Given the description of an element on the screen output the (x, y) to click on. 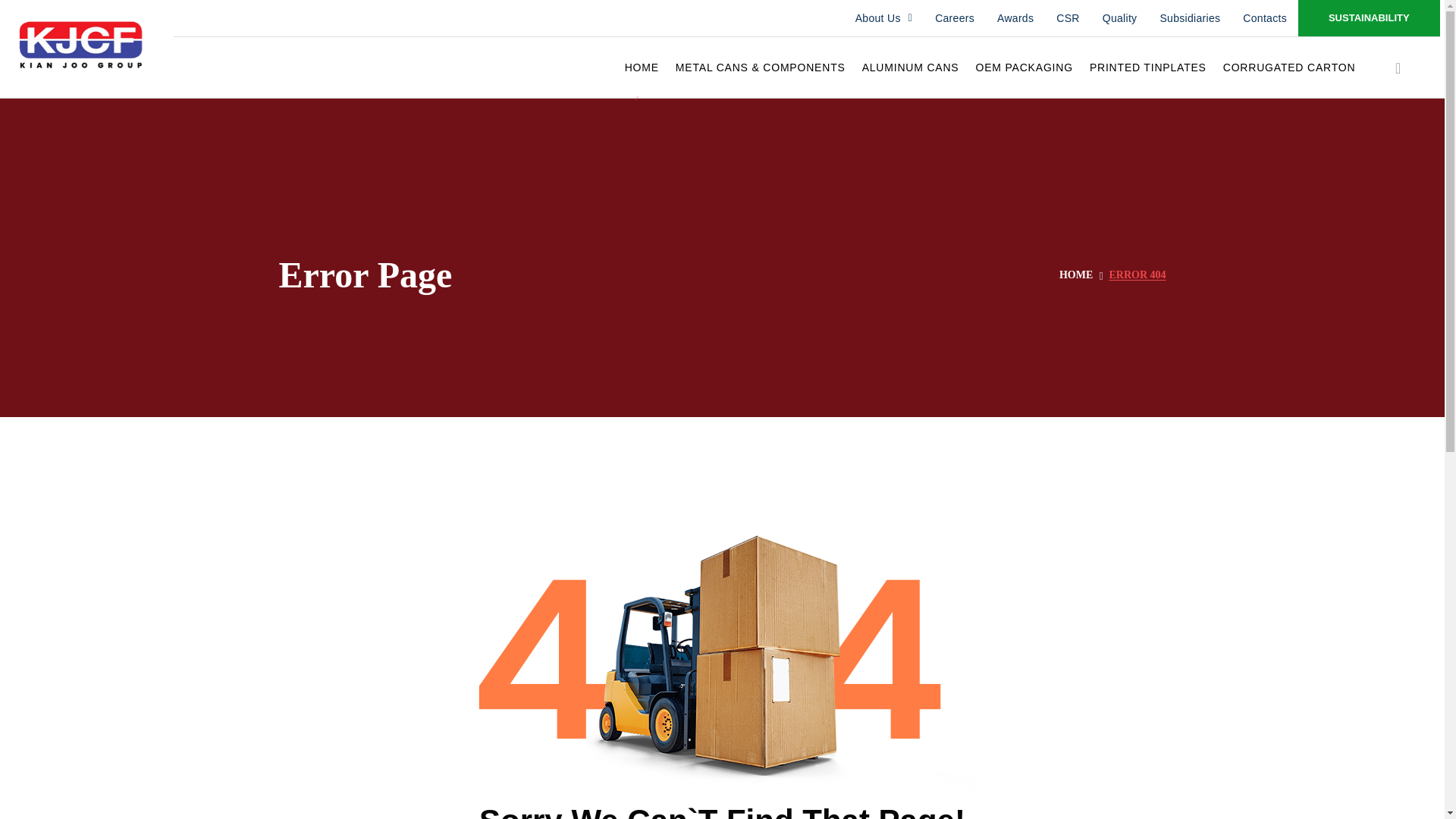
Contacts (1264, 18)
About Us (883, 18)
Careers (954, 18)
Subsidiaries (1189, 18)
CSR (1067, 18)
Quality (1119, 18)
Awards (1015, 18)
SUSTAINABILITY (1368, 18)
